Given the description of an element on the screen output the (x, y) to click on. 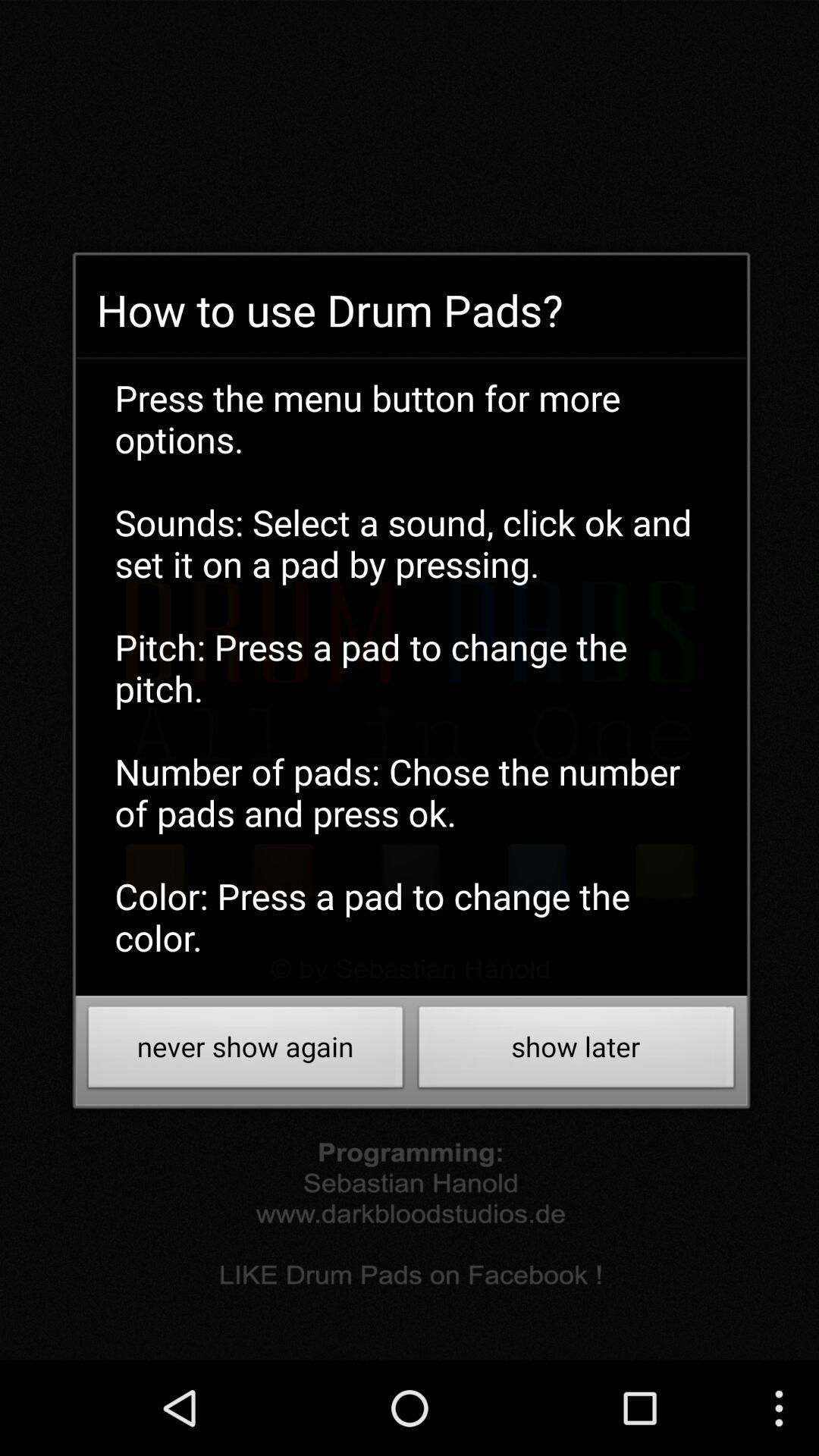
select item to the right of the never show again icon (576, 1051)
